Given the description of an element on the screen output the (x, y) to click on. 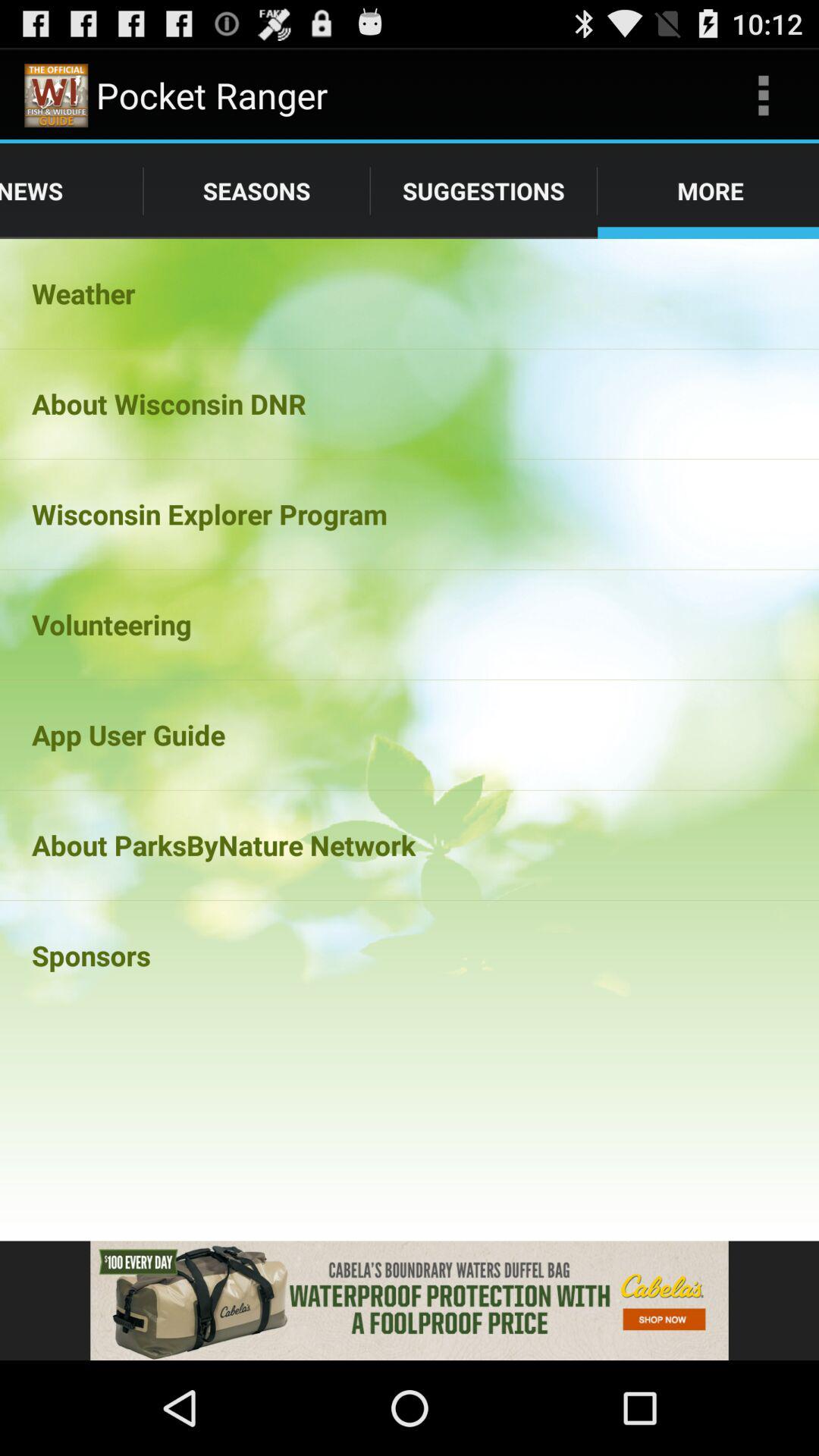
advertisement (409, 1300)
